Given the description of an element on the screen output the (x, y) to click on. 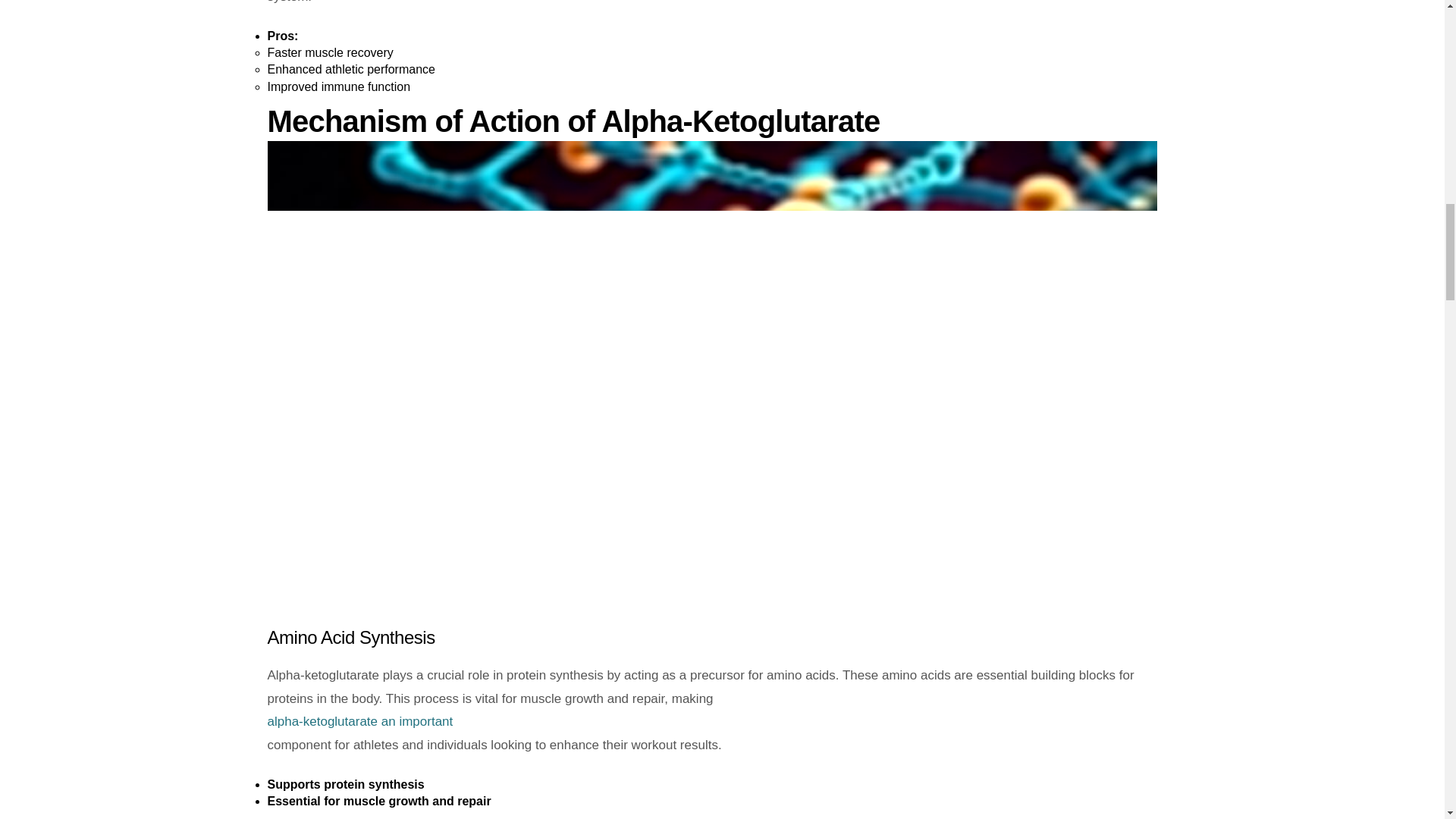
alpha-ketoglutarate an important (711, 721)
